Given the description of an element on the screen output the (x, y) to click on. 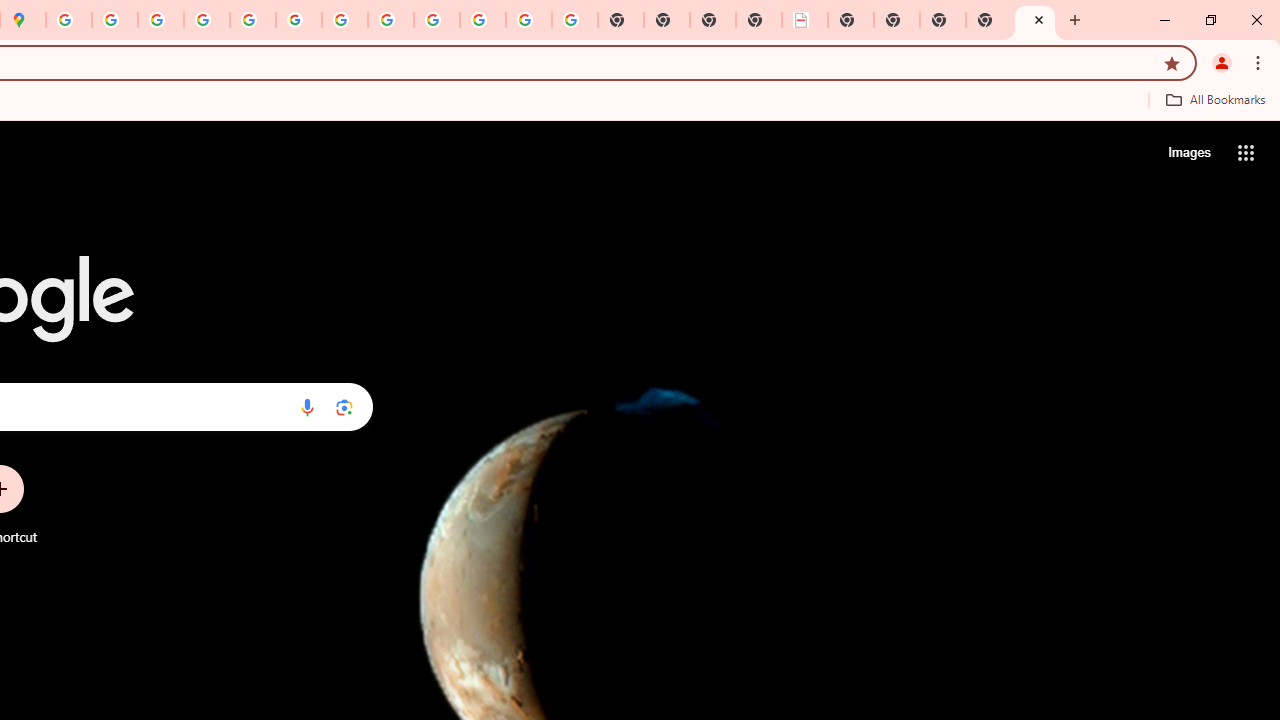
Privacy Help Center - Policies Help (161, 20)
YouTube (345, 20)
Privacy Help Center - Policies Help (207, 20)
New Tab (989, 20)
New Tab (943, 20)
